Given the description of an element on the screen output the (x, y) to click on. 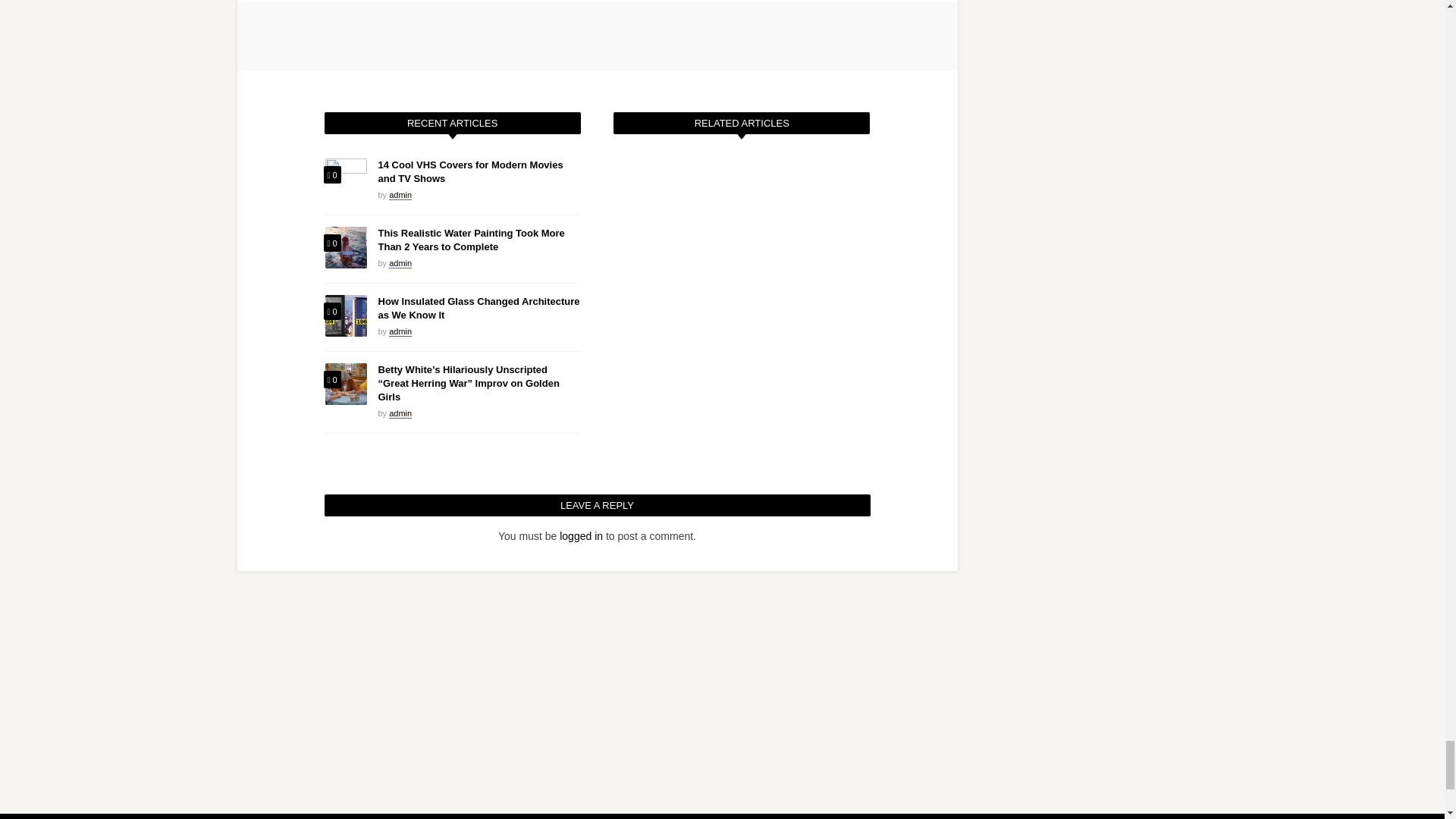
Posts by admin (400, 194)
Posts by admin (400, 263)
Posts by admin (400, 413)
Posts by admin (400, 331)
